Given the description of an element on the screen output the (x, y) to click on. 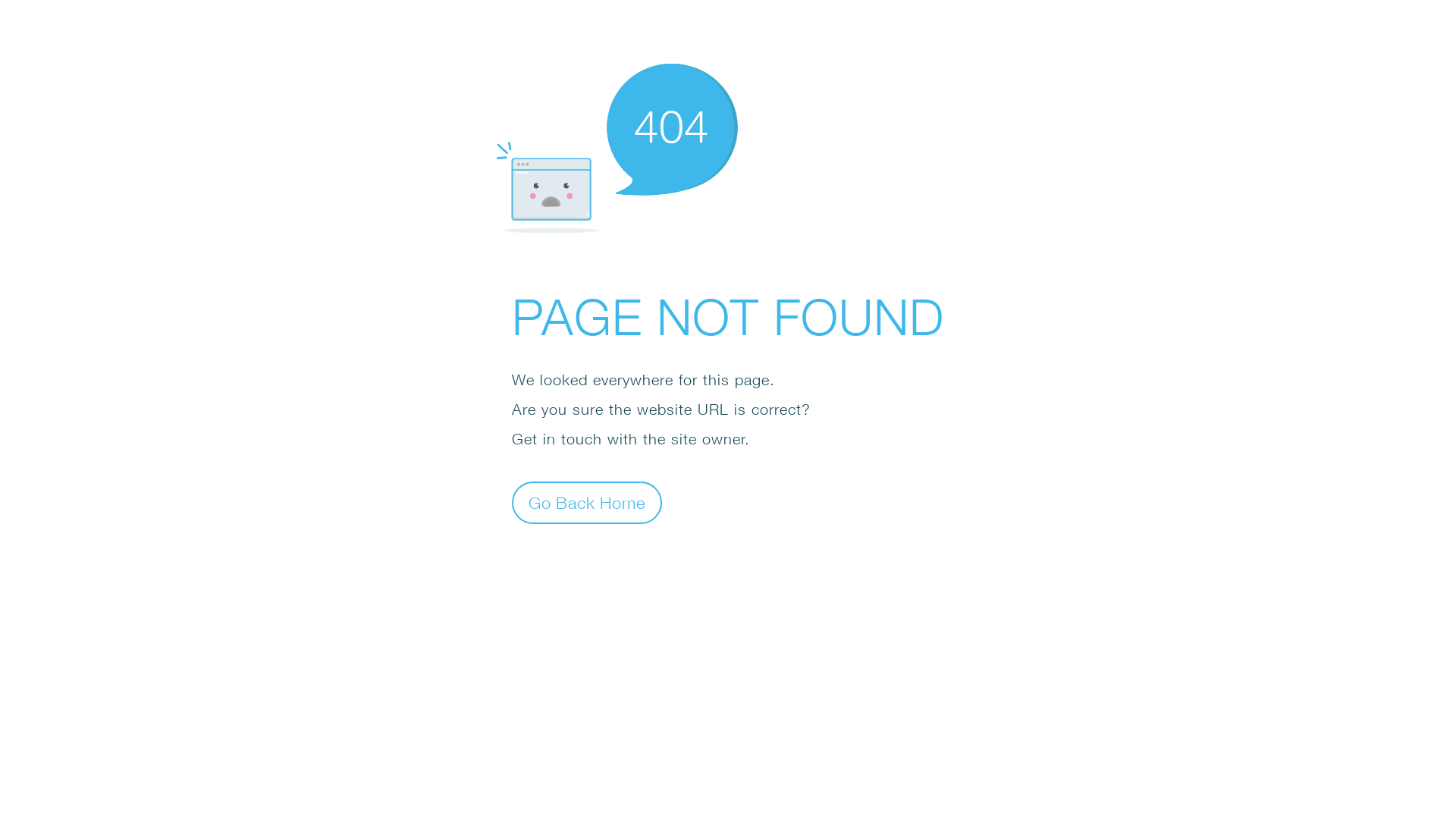
Go Back Home Element type: text (586, 502)
